Given the description of an element on the screen output the (x, y) to click on. 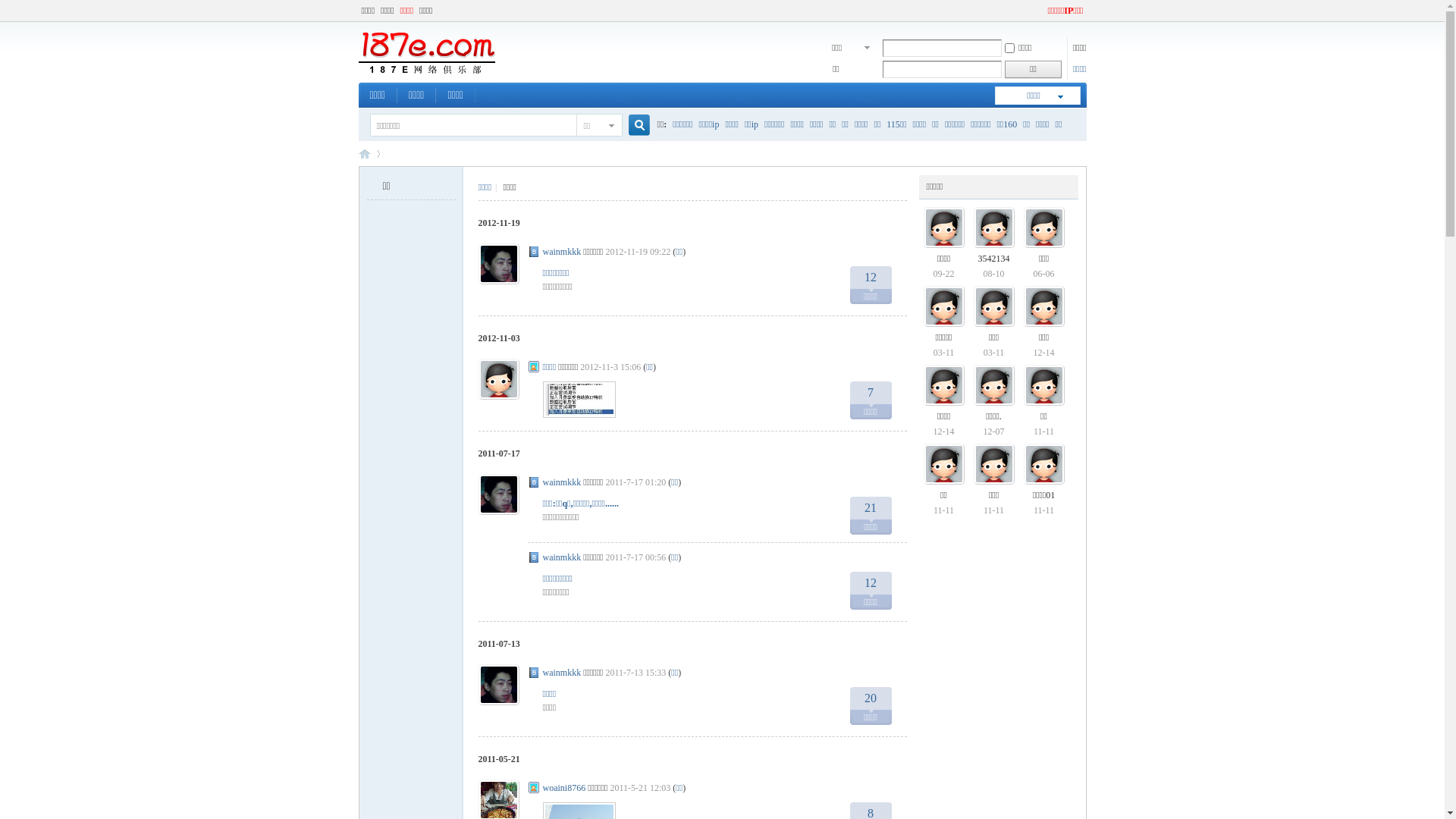
true Element type: text (632, 125)
wainmkkk Element type: text (561, 672)
woaini8766 Element type: text (564, 787)
wainmkkk Element type: text (561, 251)
3542134 Element type: text (994, 258)
wainmkkk Element type: text (561, 557)
wainmkkk Element type: text (561, 481)
